Given the description of an element on the screen output the (x, y) to click on. 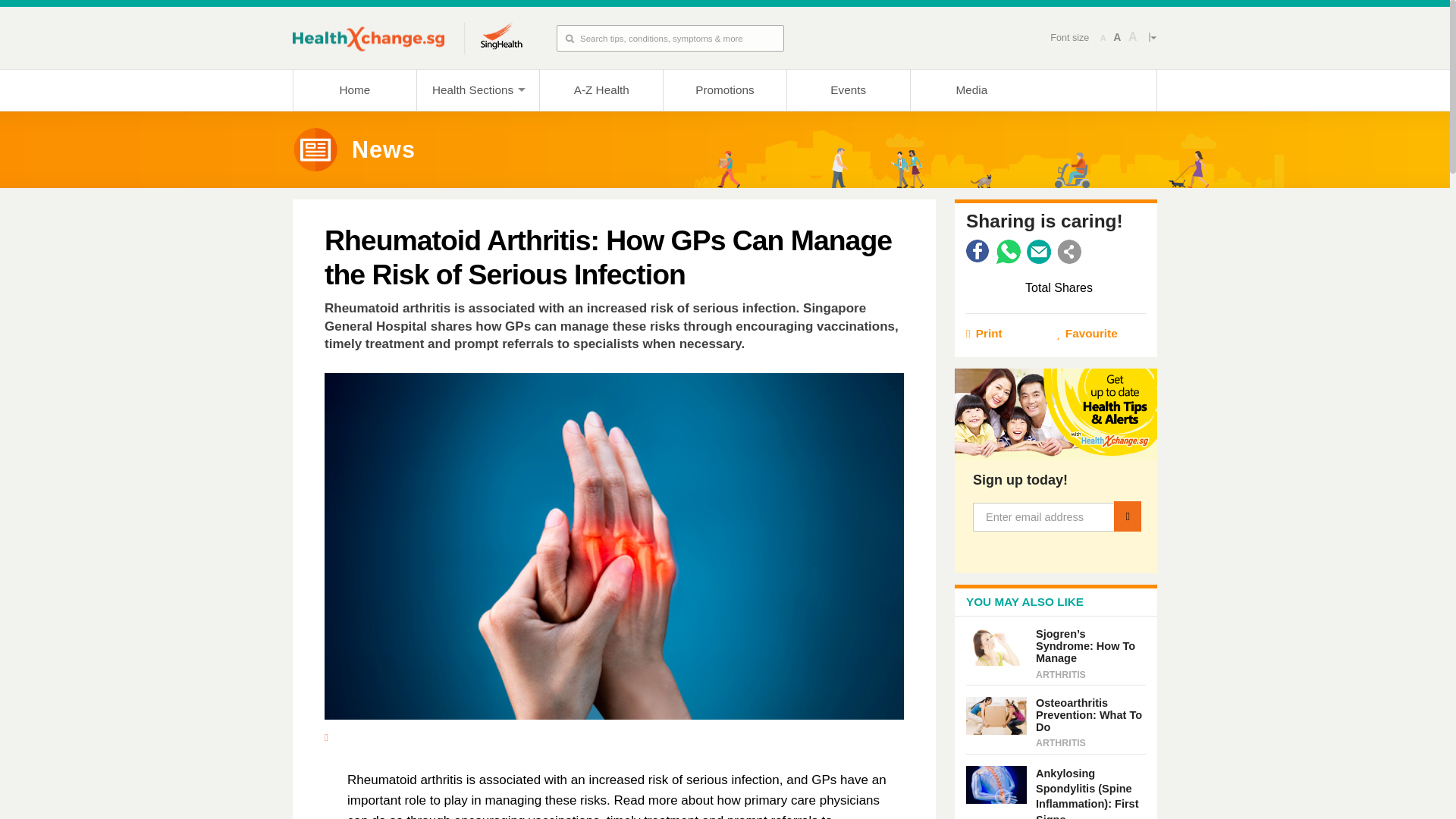
WhatsApp (1007, 251)
A (1132, 37)
Home (354, 89)
A (1102, 38)
Media (971, 89)
A (1116, 37)
submit query (565, 38)
Events (848, 89)
Facebook (978, 251)
Email Us (1038, 251)
Promotions (724, 89)
Health Sections (478, 89)
A-Z Health (600, 89)
